Given the description of an element on the screen output the (x, y) to click on. 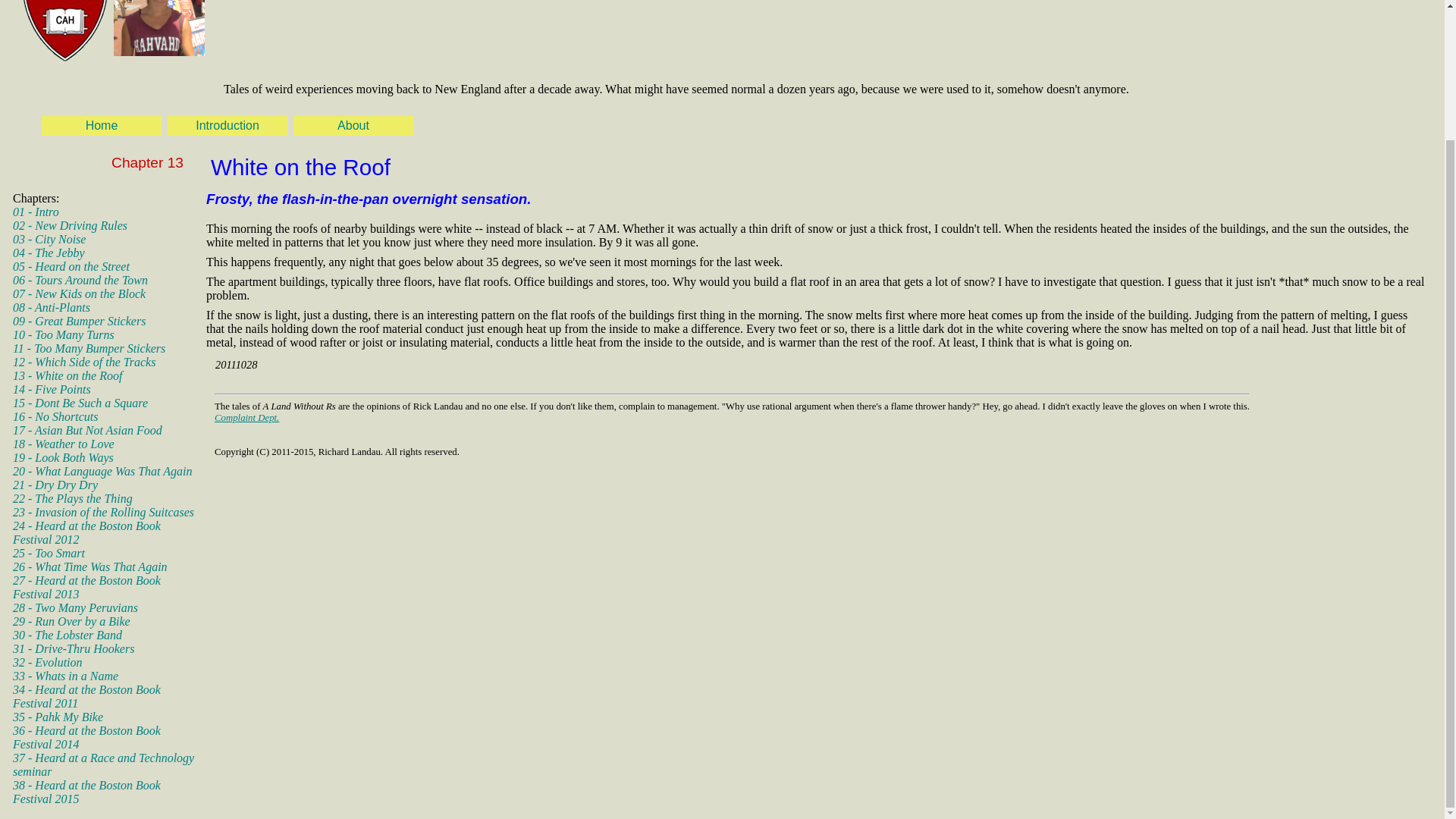
28 - Two Many Peruvians (75, 607)
05 - Heard on the Street (71, 266)
07 - New Kids on the Block (79, 293)
36 - Heard at the Boston Book Festival 2014 (86, 737)
34 - Heard at the Boston Book Festival 2011 (86, 696)
24 - Heard at the Boston Book Festival 2012 (86, 532)
08 - Anti-Plants (51, 307)
13 - White on the Roof (67, 375)
25 - Too Smart (48, 553)
37 - Heard at a Race and Technology seminar (103, 764)
